Given the description of an element on the screen output the (x, y) to click on. 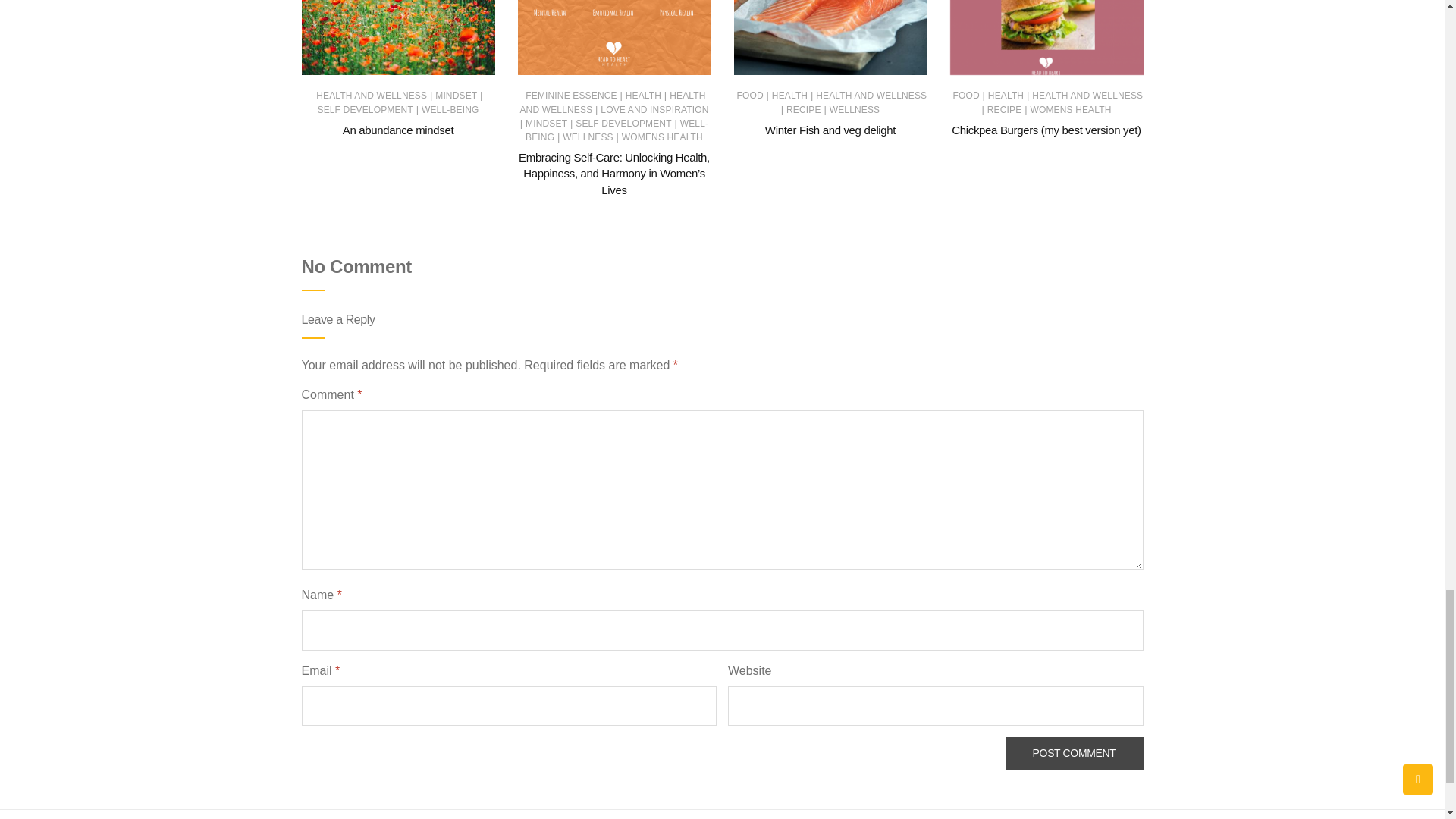
Winter Fish and veg delight (830, 129)
Post Comment (1074, 753)
An abundance mindset (397, 129)
